Given the description of an element on the screen output the (x, y) to click on. 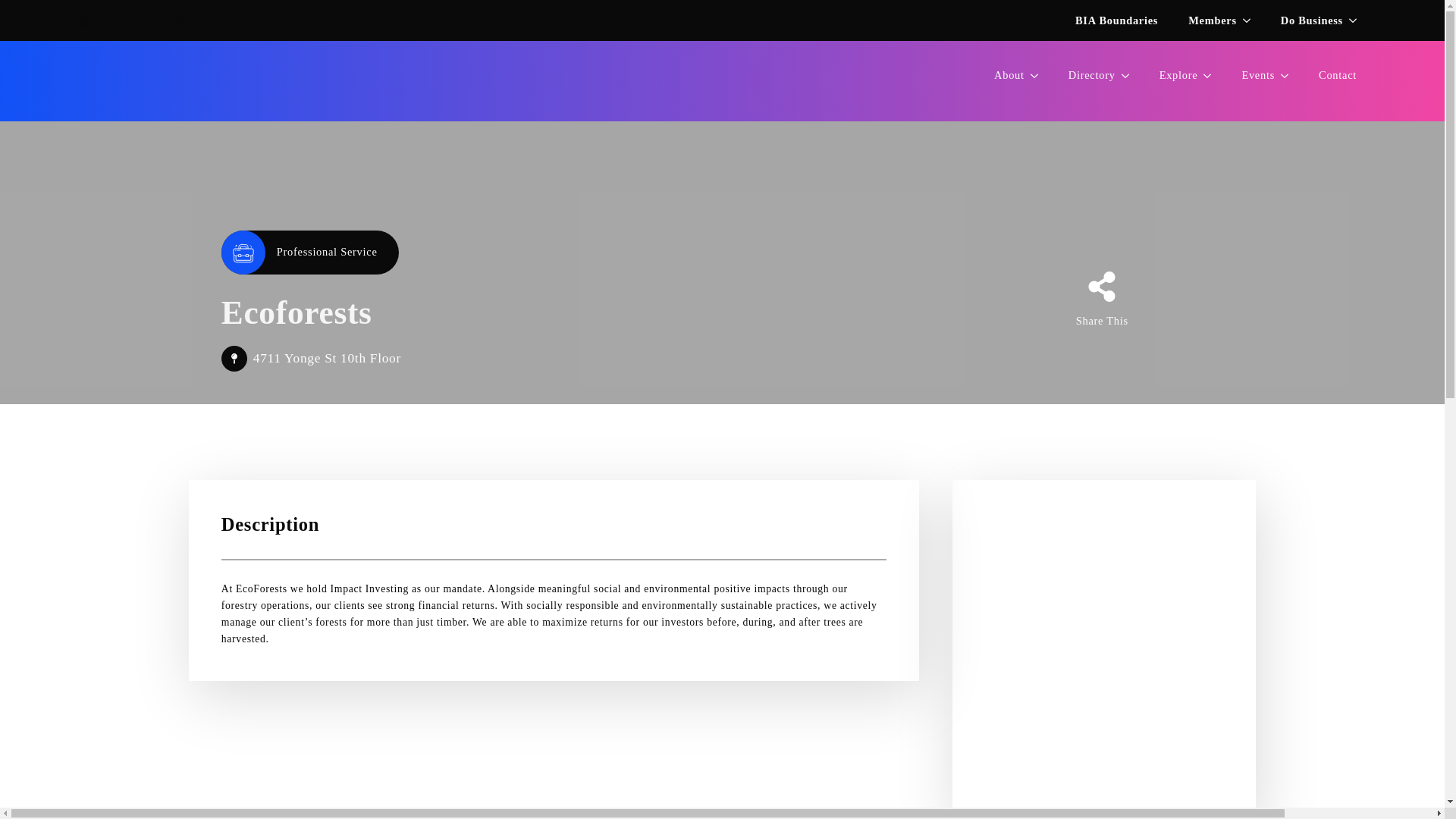
BIA Boundaries (1116, 20)
Directory (1083, 74)
Members (1204, 20)
Do Business (722, 80)
About (1303, 20)
